Given the description of an element on the screen output the (x, y) to click on. 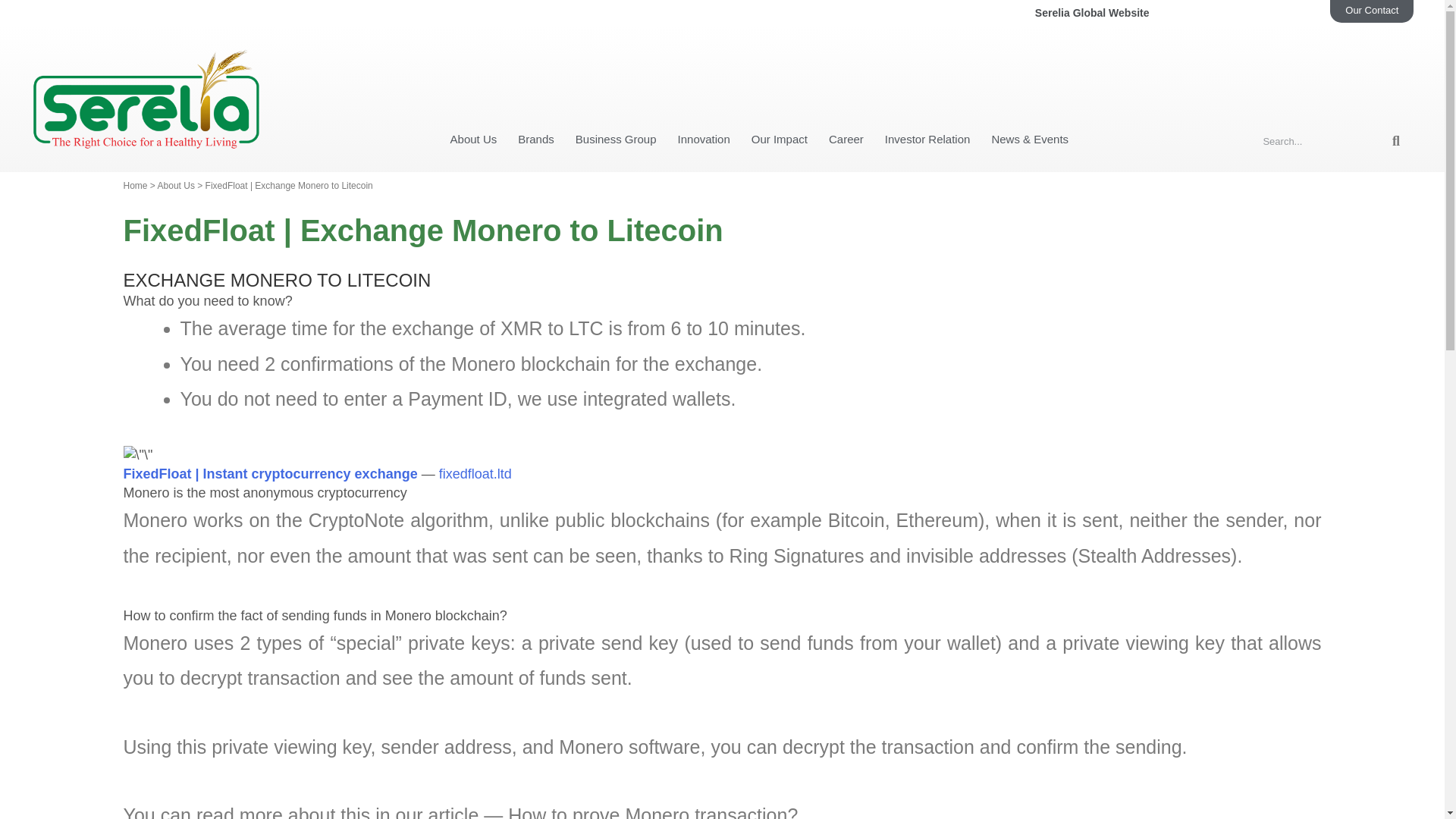
Career (846, 62)
Serelia Global Website (1136, 13)
Our Impact (779, 62)
About Us (473, 62)
Search (1396, 63)
Investor Relation (928, 62)
Search (1322, 63)
Our Contact (1371, 11)
Brands (535, 62)
Innovation (703, 62)
Business Group (615, 62)
